Given the description of an element on the screen output the (x, y) to click on. 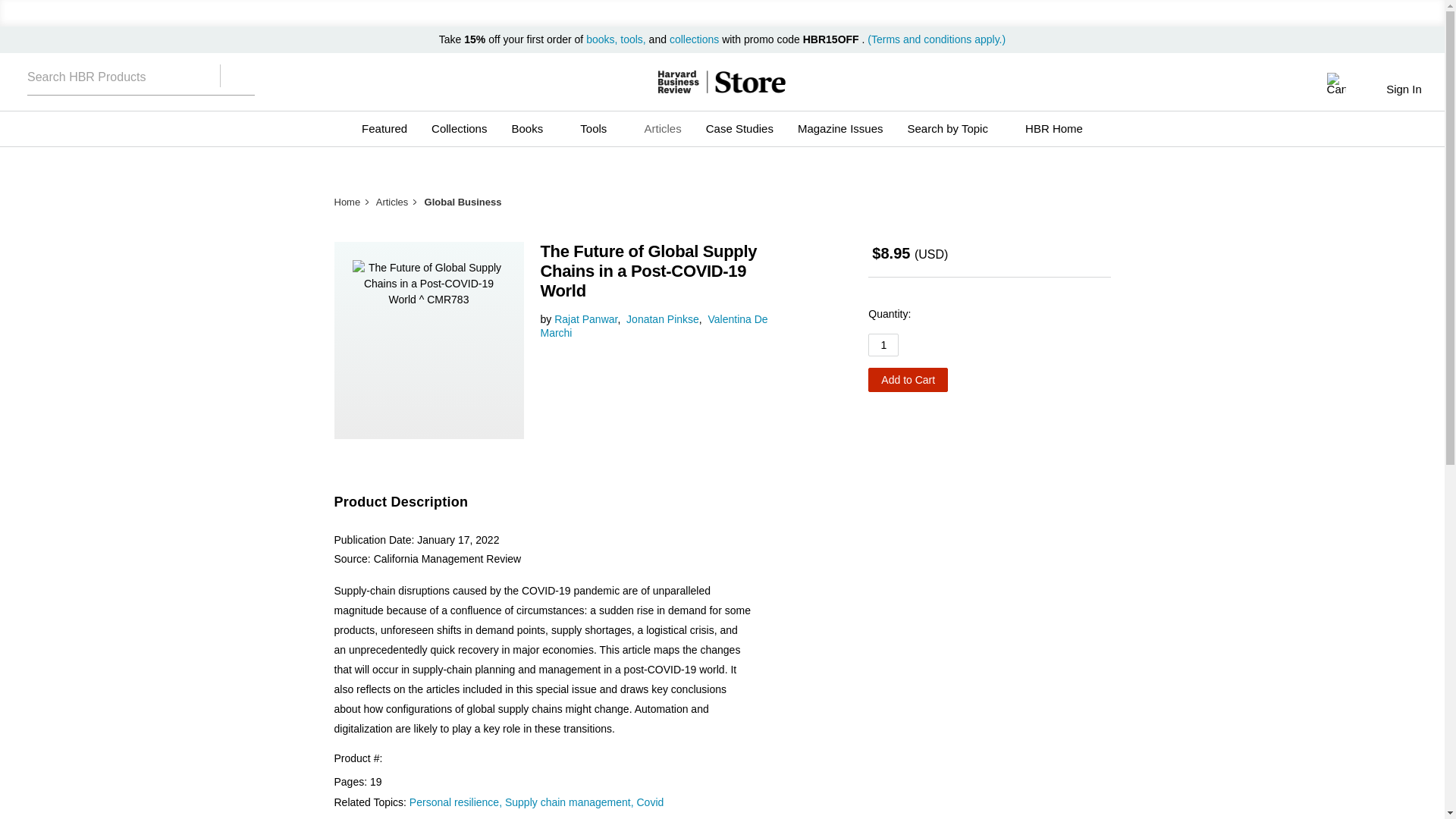
collections (694, 39)
tools, (632, 39)
Books (533, 128)
1 (882, 344)
Collections (459, 128)
Add to Cart (907, 379)
HBR.ORG - Prod (678, 81)
Tools (599, 128)
Sign In (1403, 88)
books, (603, 39)
